Given the description of an element on the screen output the (x, y) to click on. 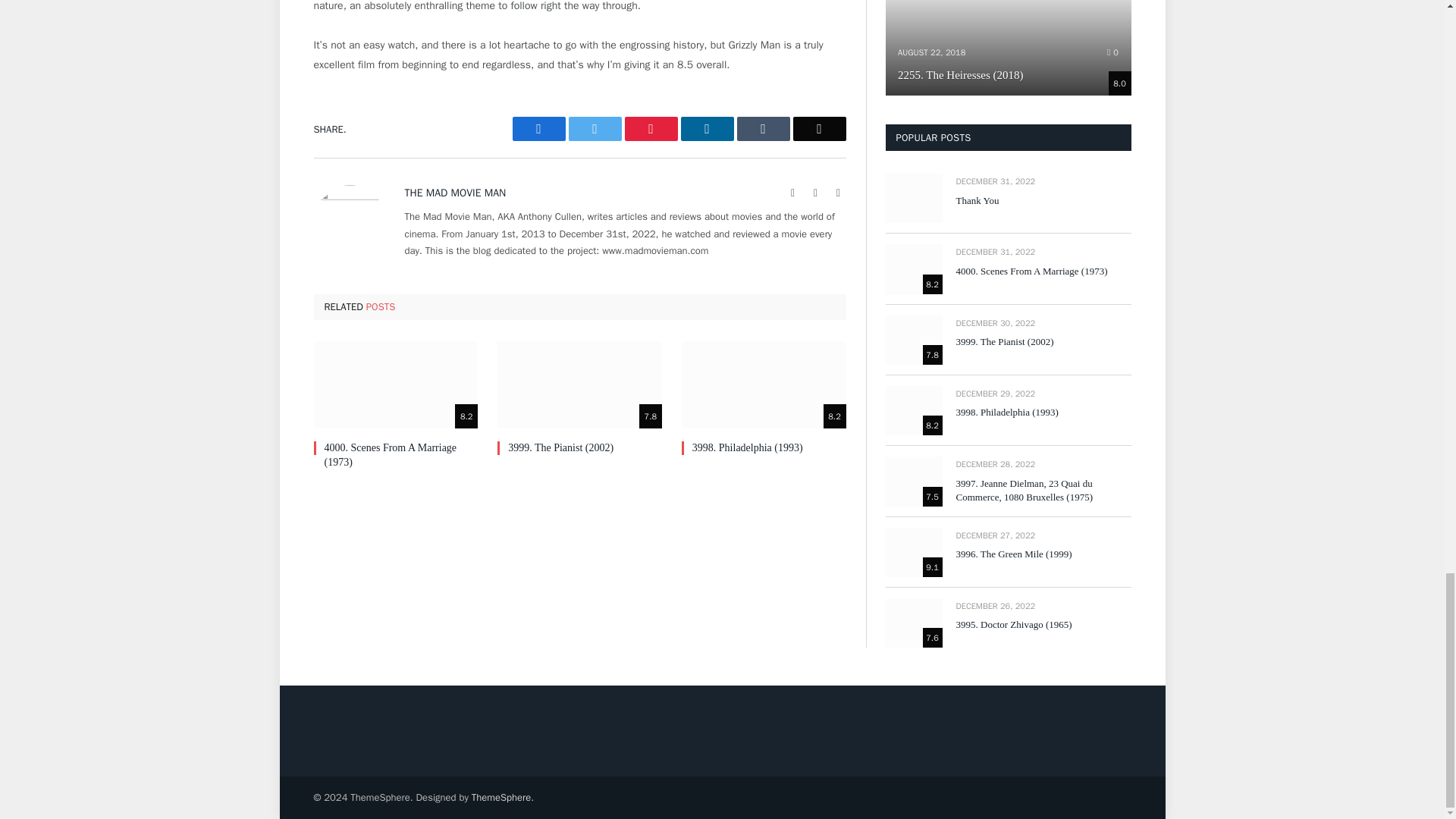
Share via Email (819, 128)
Share on Facebook (539, 128)
Website (793, 192)
Share on LinkedIn (707, 128)
Share on Pinterest (651, 128)
Posts by The Mad Movie Man (455, 192)
Facebook (816, 192)
Share on Tumblr (763, 128)
Share on Twitter (595, 128)
